Given the description of an element on the screen output the (x, y) to click on. 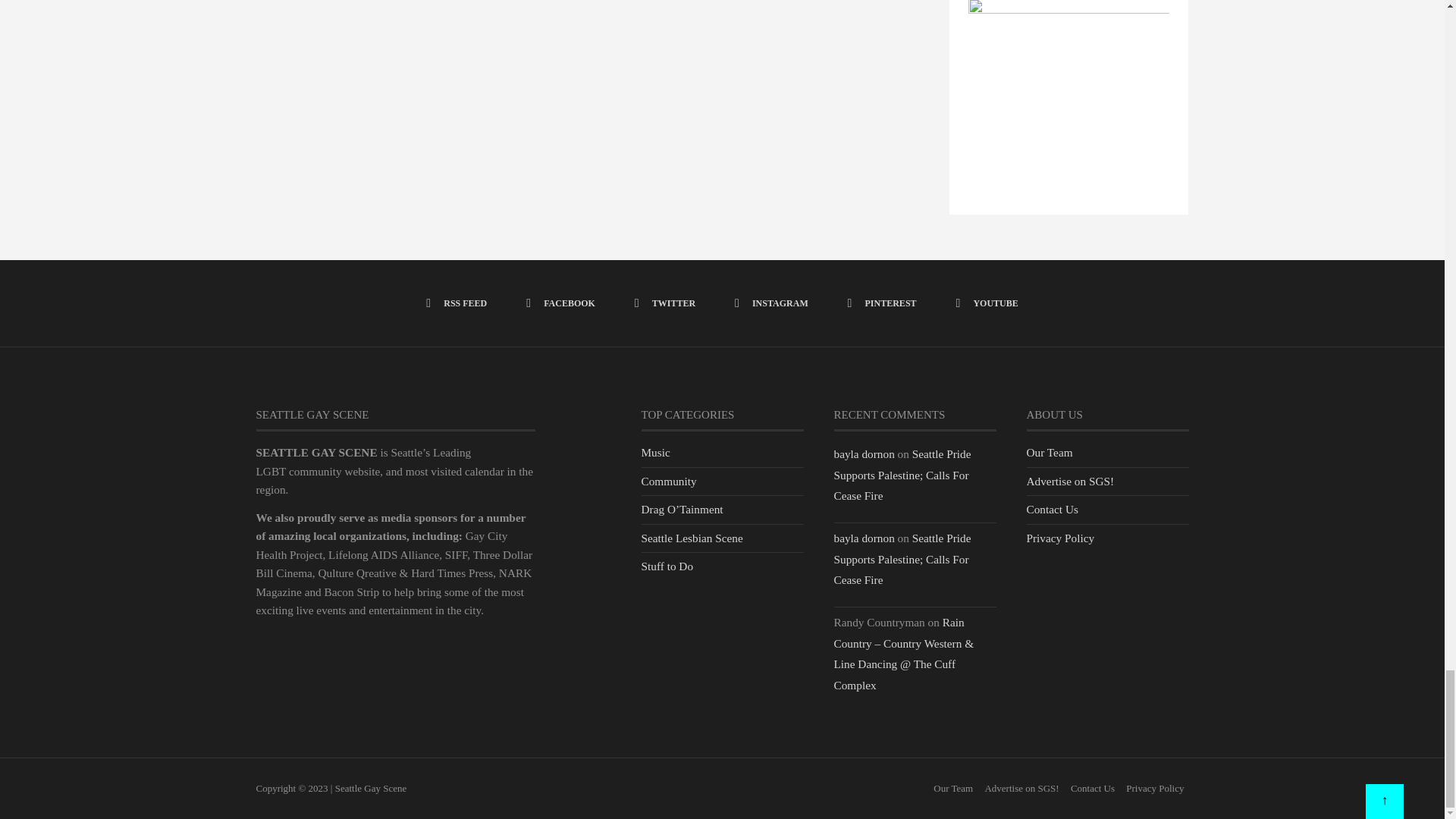
Twitter (665, 303)
Rss Feed (456, 303)
Facebook (560, 303)
